Given the description of an element on the screen output the (x, y) to click on. 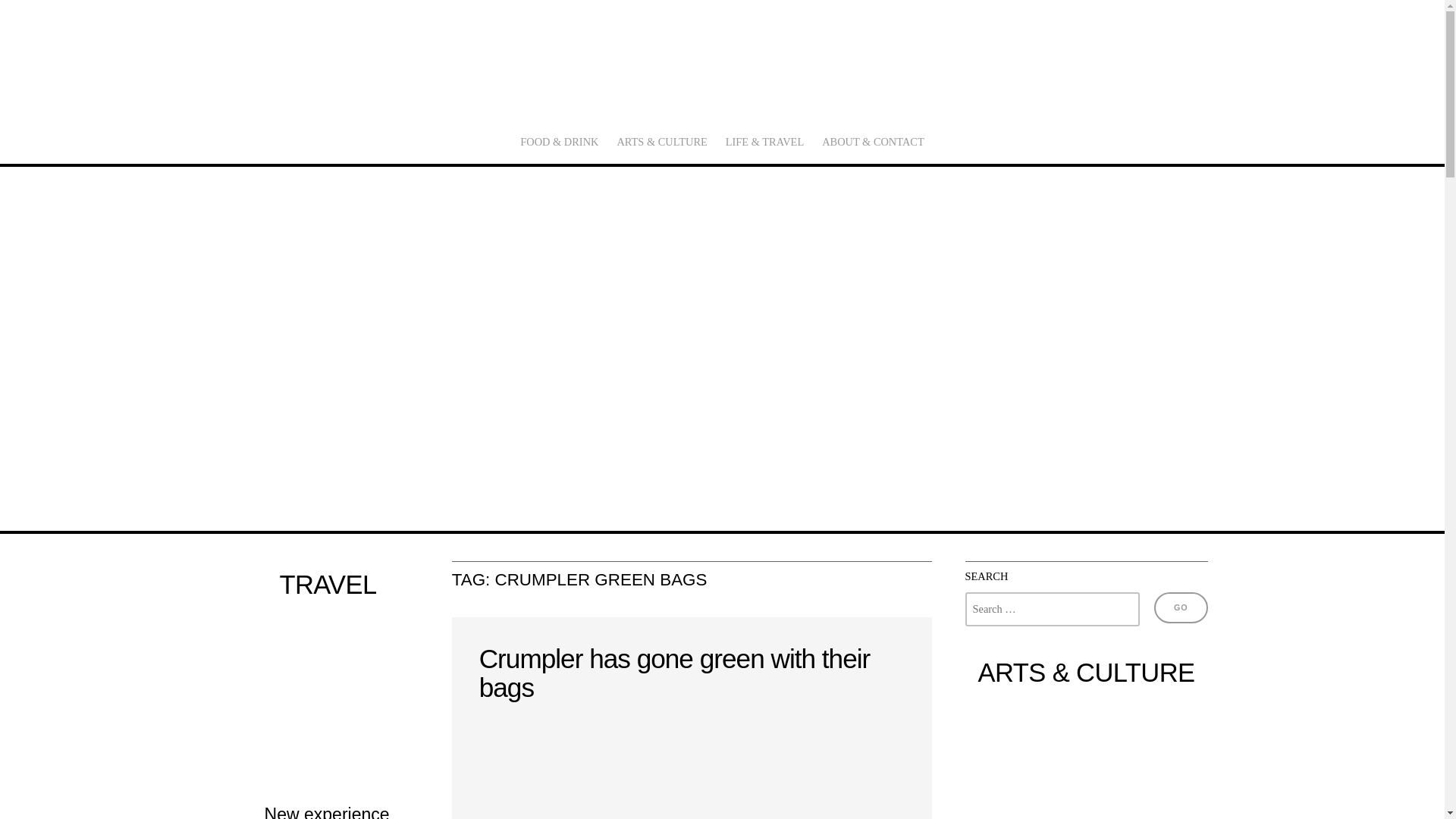
Go (1180, 607)
Crumpler has gone green with their bags (674, 672)
Go (1180, 607)
Permalink to Crumpler has gone green with their bags (692, 767)
